Given the description of an element on the screen output the (x, y) to click on. 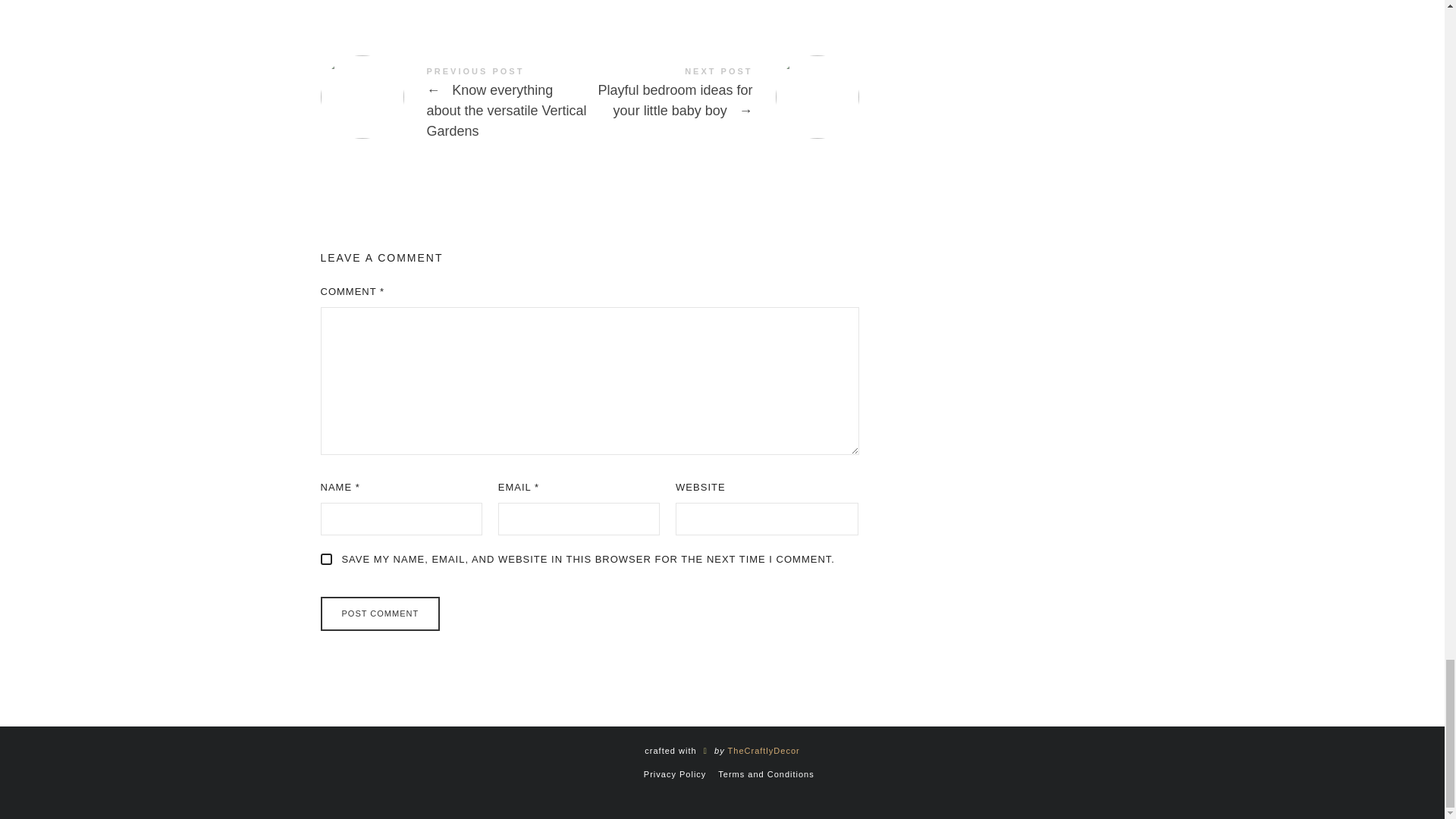
yes (325, 559)
Post Comment (379, 613)
Know everything about the versatile Vertical Gardens (454, 105)
